Given the description of an element on the screen output the (x, y) to click on. 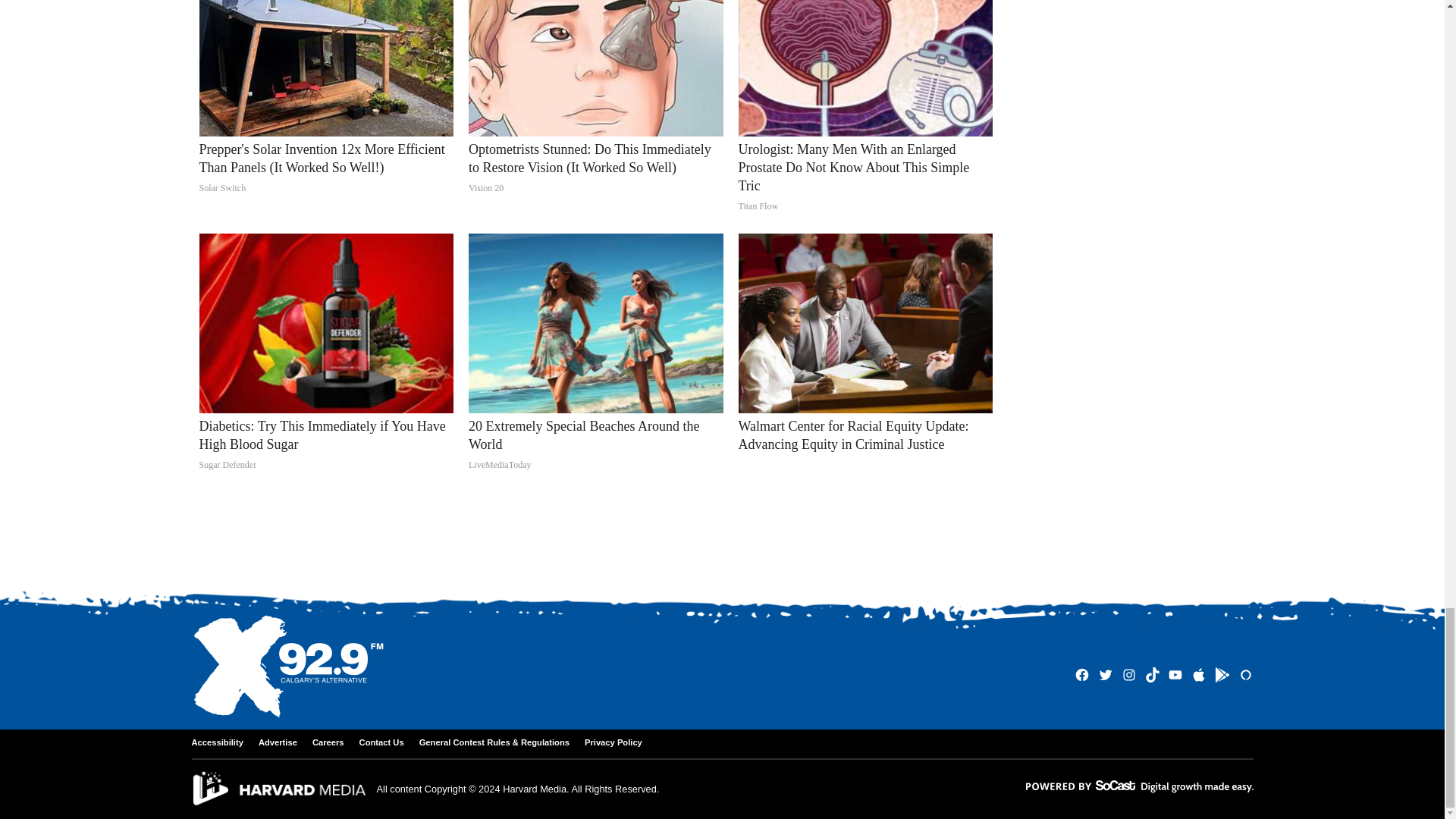
3rd party ad content (721, 540)
